Given the description of an element on the screen output the (x, y) to click on. 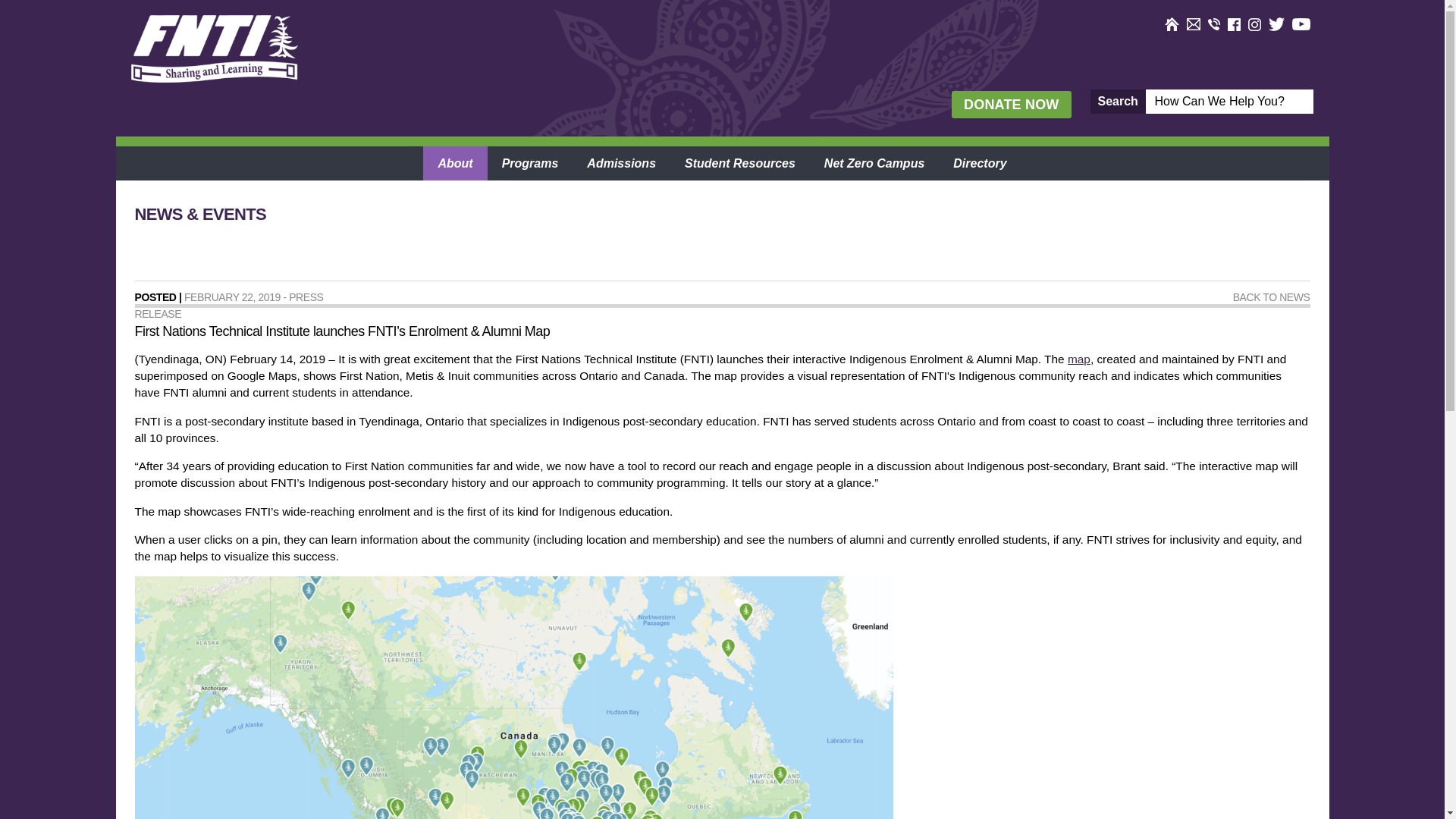
Search (1117, 101)
Directory (979, 163)
Donate Now (1011, 103)
Net Zero Campus (874, 163)
How Can We Help You? (1228, 100)
Search (1117, 101)
How Can We Help You? (1228, 100)
map (1078, 358)
Student Resources (739, 163)
BACK TO NEWS (1271, 297)
Admissions (620, 163)
Programs (530, 163)
DONATE NOW (1011, 103)
Search (1117, 101)
About (454, 163)
